Given the description of an element on the screen output the (x, y) to click on. 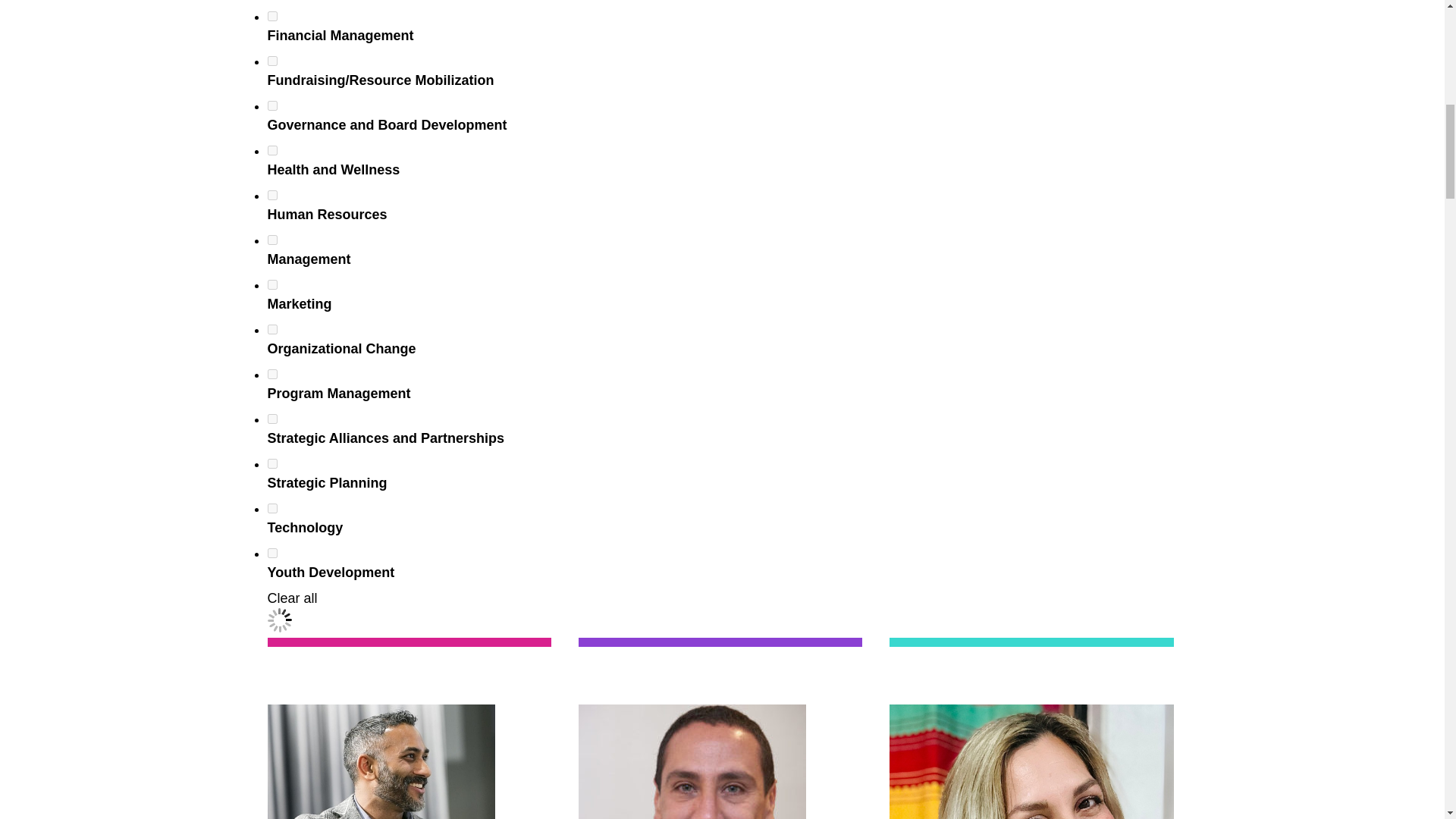
on (271, 463)
on (271, 374)
on (271, 419)
on (271, 61)
on (271, 329)
on (271, 105)
on (271, 239)
on (271, 16)
on (271, 194)
on (271, 508)
on (271, 284)
on (271, 552)
on (271, 150)
